Given the description of an element on the screen output the (x, y) to click on. 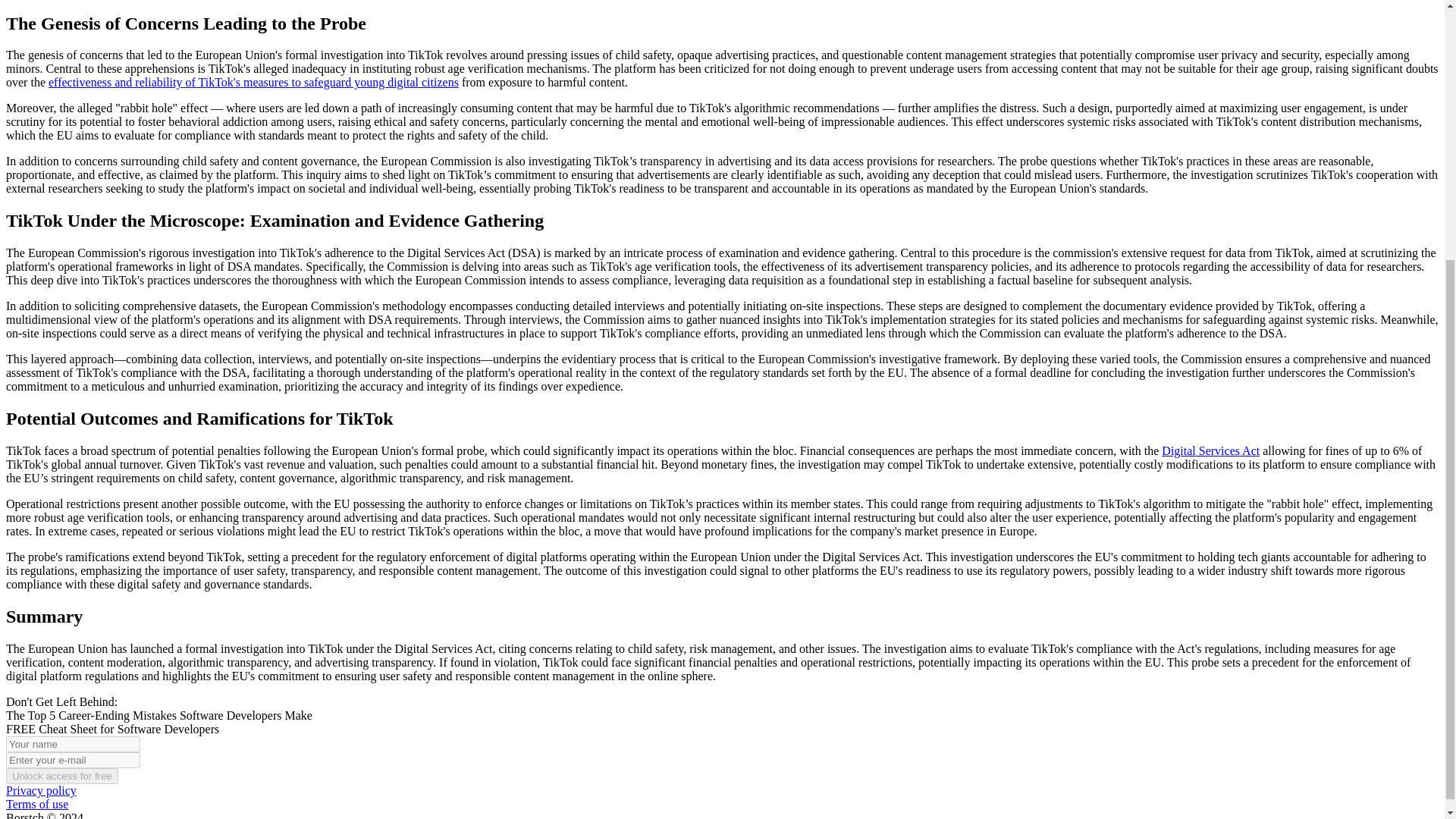
Unlock access for free (61, 775)
Terms of use (36, 803)
Digital Services Act (1210, 450)
Privacy policy (41, 789)
